Given the description of an element on the screen output the (x, y) to click on. 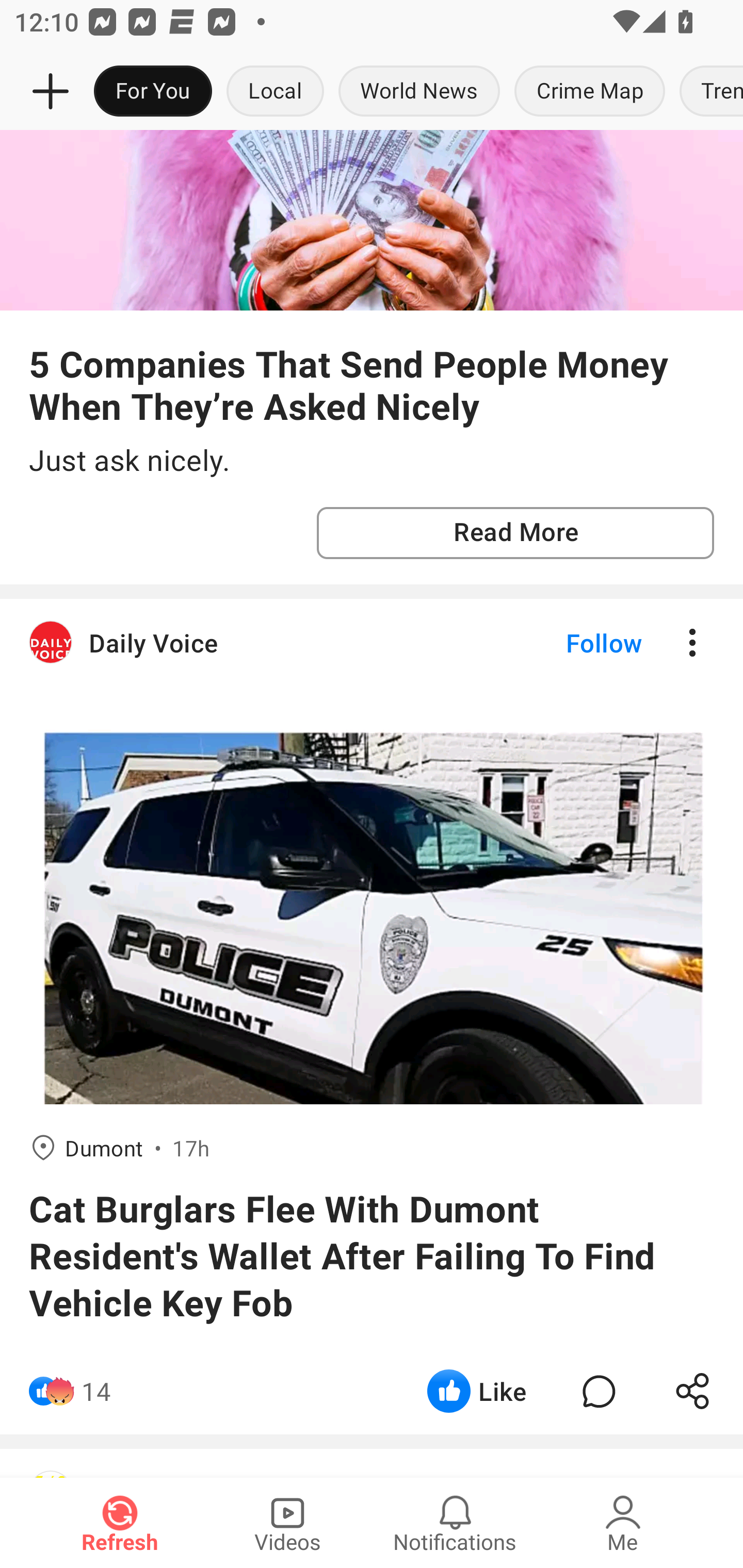
For You (152, 91)
Local (275, 91)
World News (419, 91)
Crime Map (589, 91)
Just ask nicely. (371, 460)
Read More (515, 532)
Daily Voice Follow (371, 642)
Follow (569, 642)
14 (95, 1391)
Like (476, 1391)
Videos (287, 1522)
Notifications (455, 1522)
Me (622, 1522)
